Given the description of an element on the screen output the (x, y) to click on. 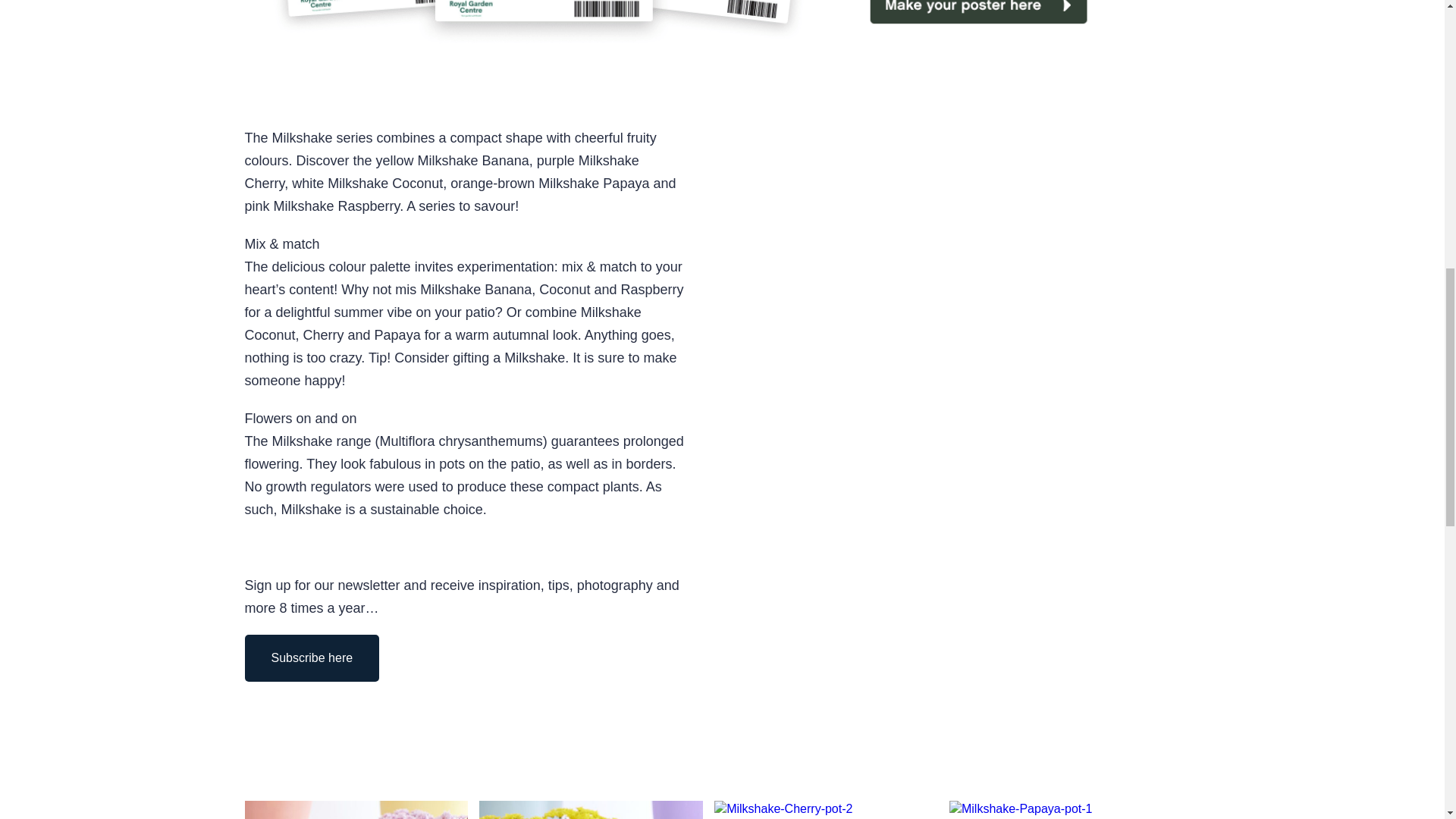
Subscribe here (311, 657)
Milkshake-Papaya-pot-1 (1021, 808)
Milkshake-Cherry-pot-2 (782, 808)
